Given the description of an element on the screen output the (x, y) to click on. 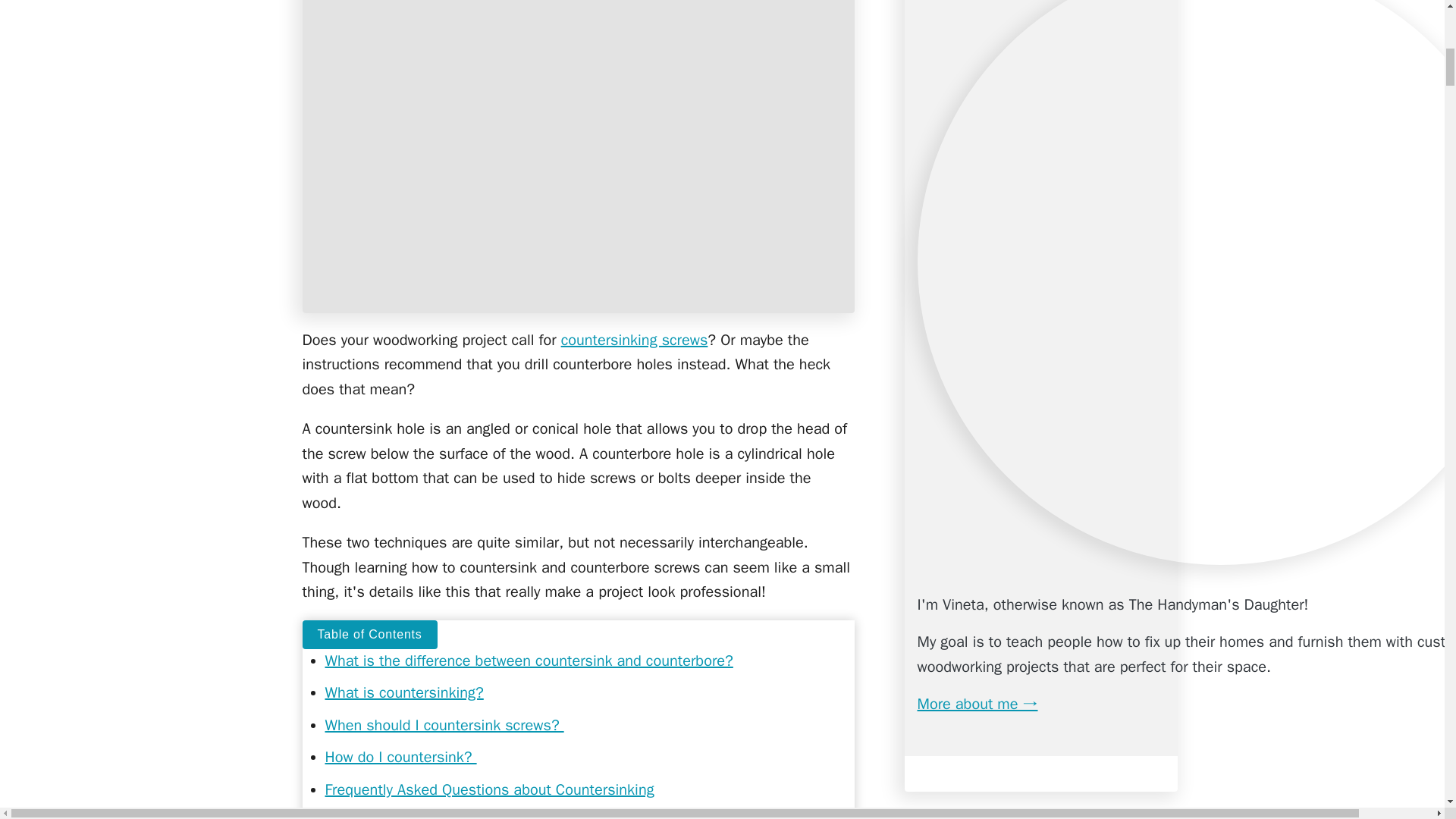
Frequently Asked Questions about Countersinking (488, 789)
What is the difference between countersink and counterbore? (528, 660)
How do I countersink?  (400, 756)
When should I countersink screws?  (443, 724)
Do you have to countersink screws?  (476, 815)
countersinking screws (633, 339)
Table of Contents (368, 634)
What is countersinking? (403, 692)
